Given the description of an element on the screen output the (x, y) to click on. 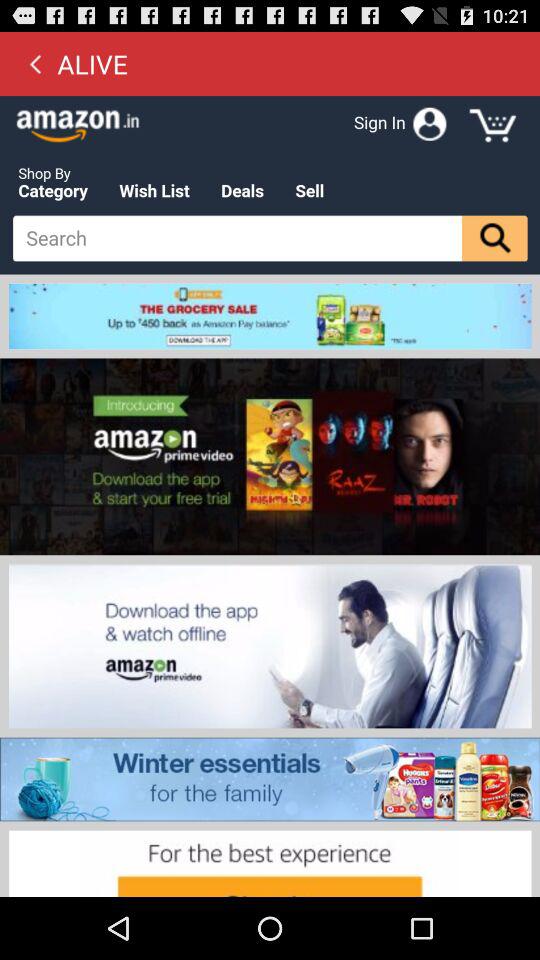
go back (35, 63)
